Given the description of an element on the screen output the (x, y) to click on. 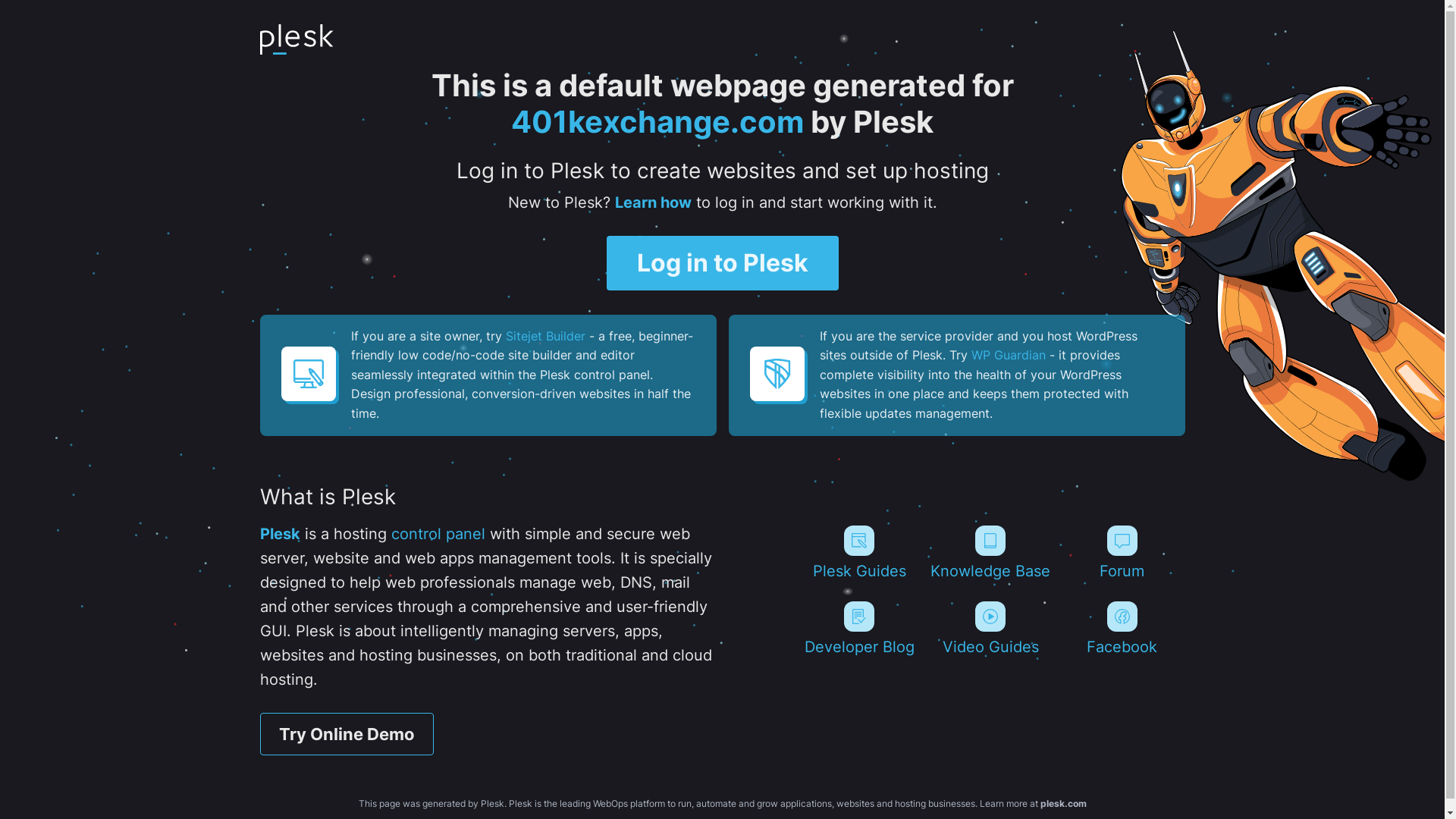
Plesk Guides Element type: text (858, 552)
control panel Element type: text (438, 533)
Try Online Demo Element type: text (346, 733)
401kexchange.com Element type: text (657, 121)
Learn how Element type: text (652, 202)
Log in to Plesk Element type: text (722, 262)
Facebook Element type: text (1121, 628)
Forum Element type: text (1121, 552)
plesk.com Element type: text (1063, 803)
Video Guides Element type: text (990, 628)
WP Guardian Element type: text (1007, 354)
Plesk Element type: text (279, 533)
Developer Blog Element type: text (858, 628)
Sitejet Builder Element type: text (544, 335)
Knowledge Base Element type: text (990, 552)
